Given the description of an element on the screen output the (x, y) to click on. 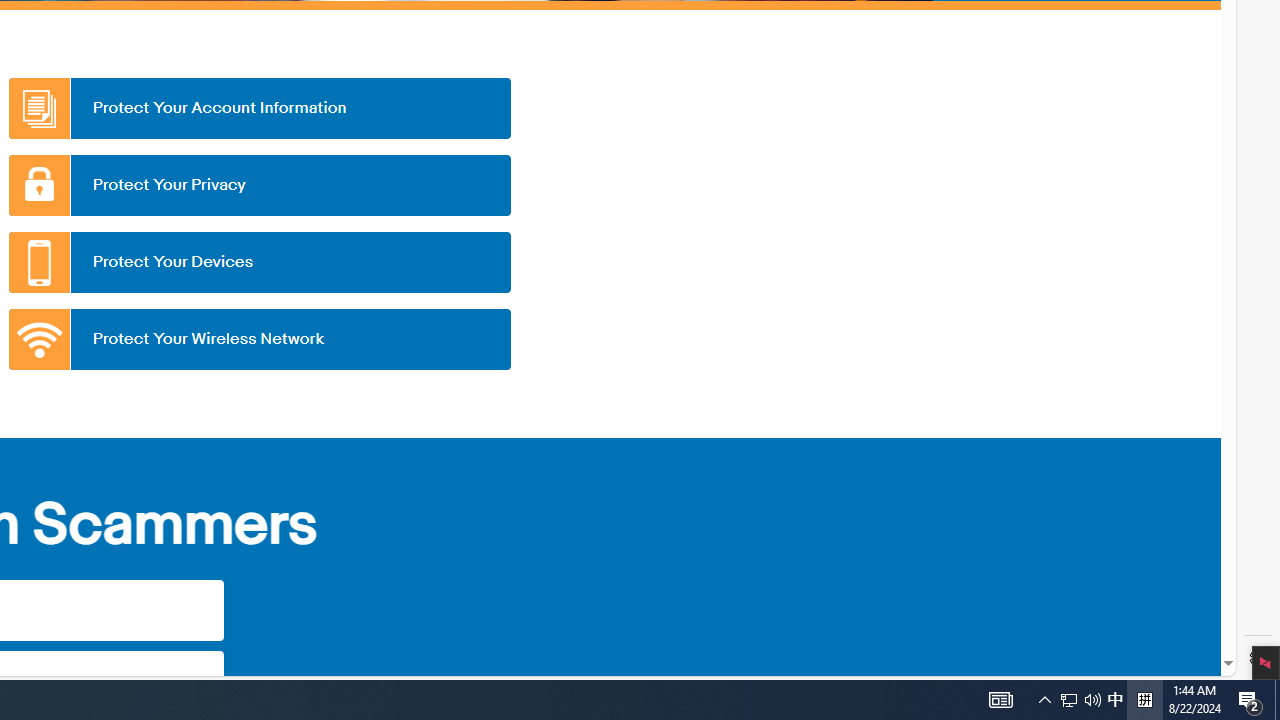
Protect Your Devices (259, 262)
Protect Your Account Information (259, 107)
Protect Your Wireless Network (259, 339)
Protect Your Privacy (259, 185)
